Given the description of an element on the screen output the (x, y) to click on. 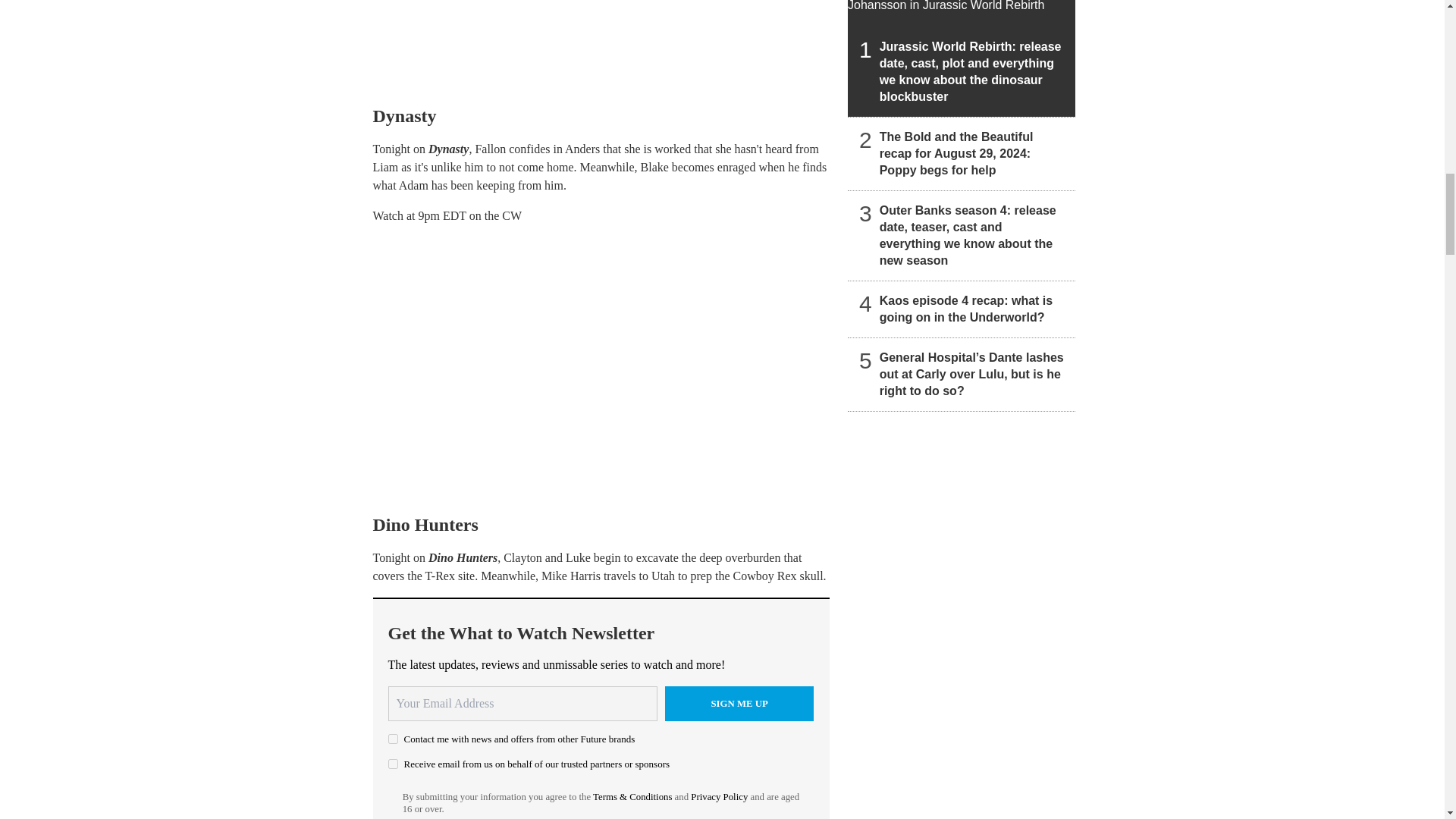
on (392, 764)
on (392, 738)
Sign me up (739, 703)
Sign me up (739, 703)
